Given the description of an element on the screen output the (x, y) to click on. 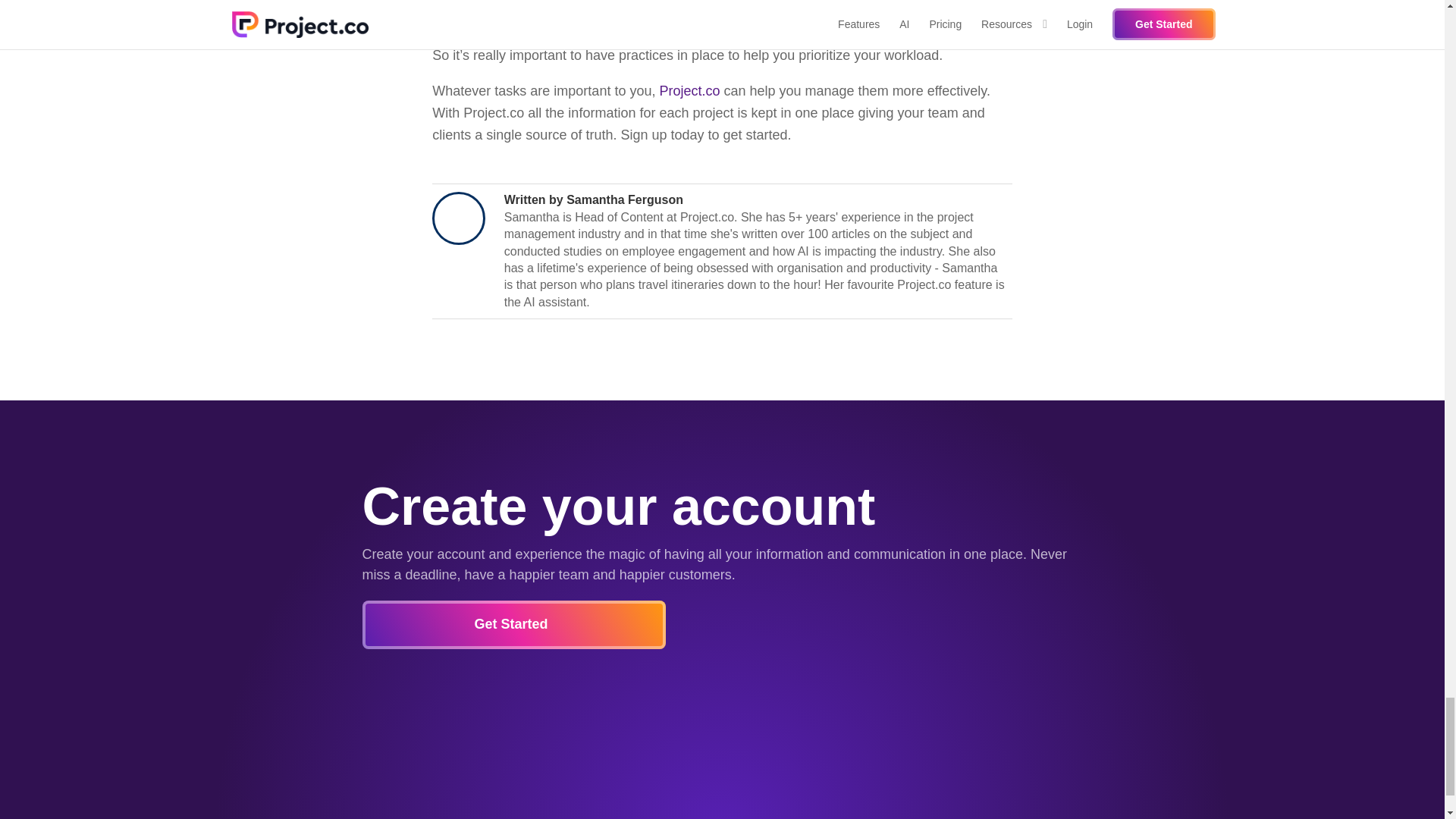
Get Started (513, 624)
Samantha Ferguson (624, 199)
Project.co (689, 90)
